Given the description of an element on the screen output the (x, y) to click on. 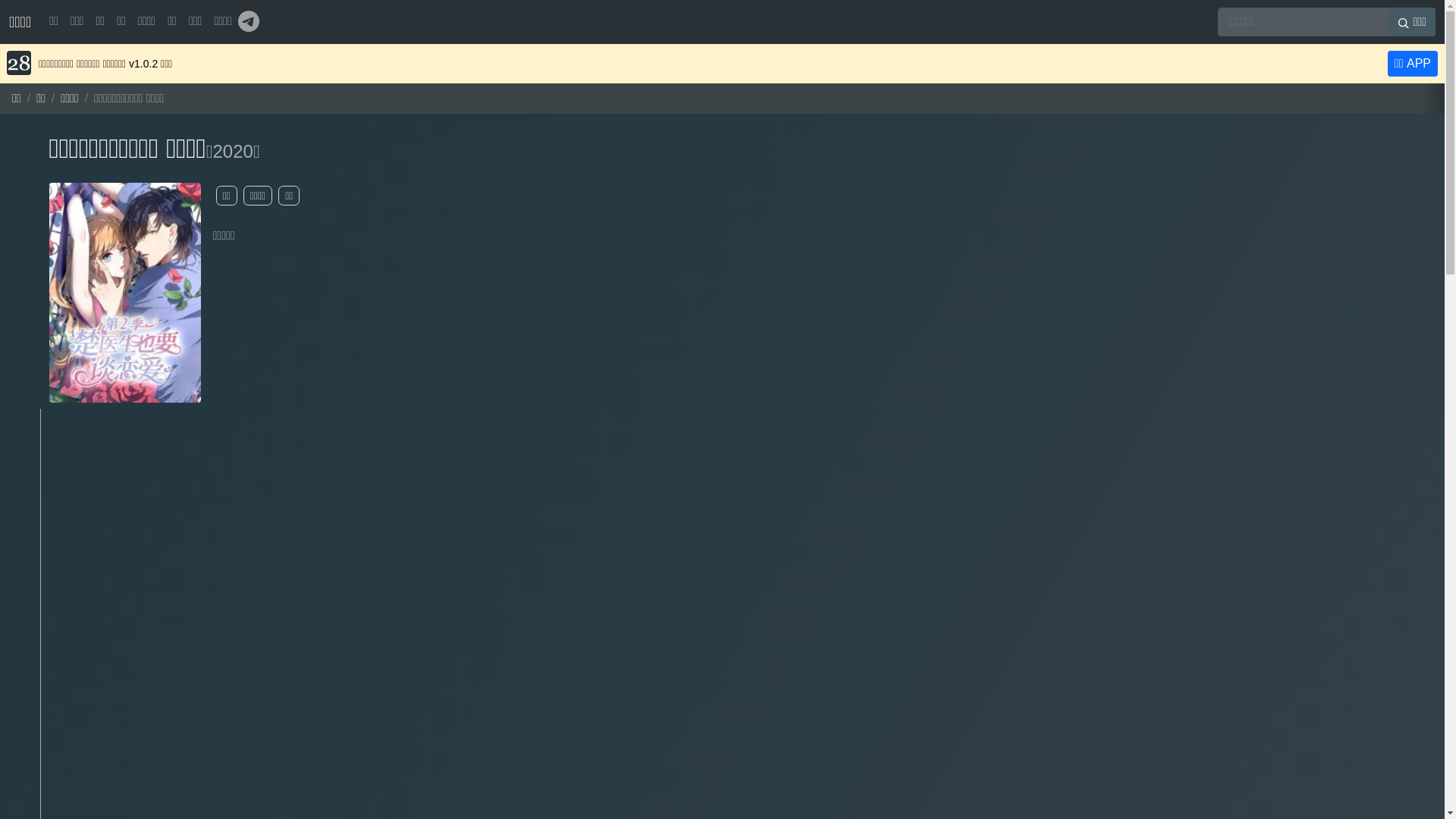
2020 Element type: text (232, 151)
